Given the description of an element on the screen output the (x, y) to click on. 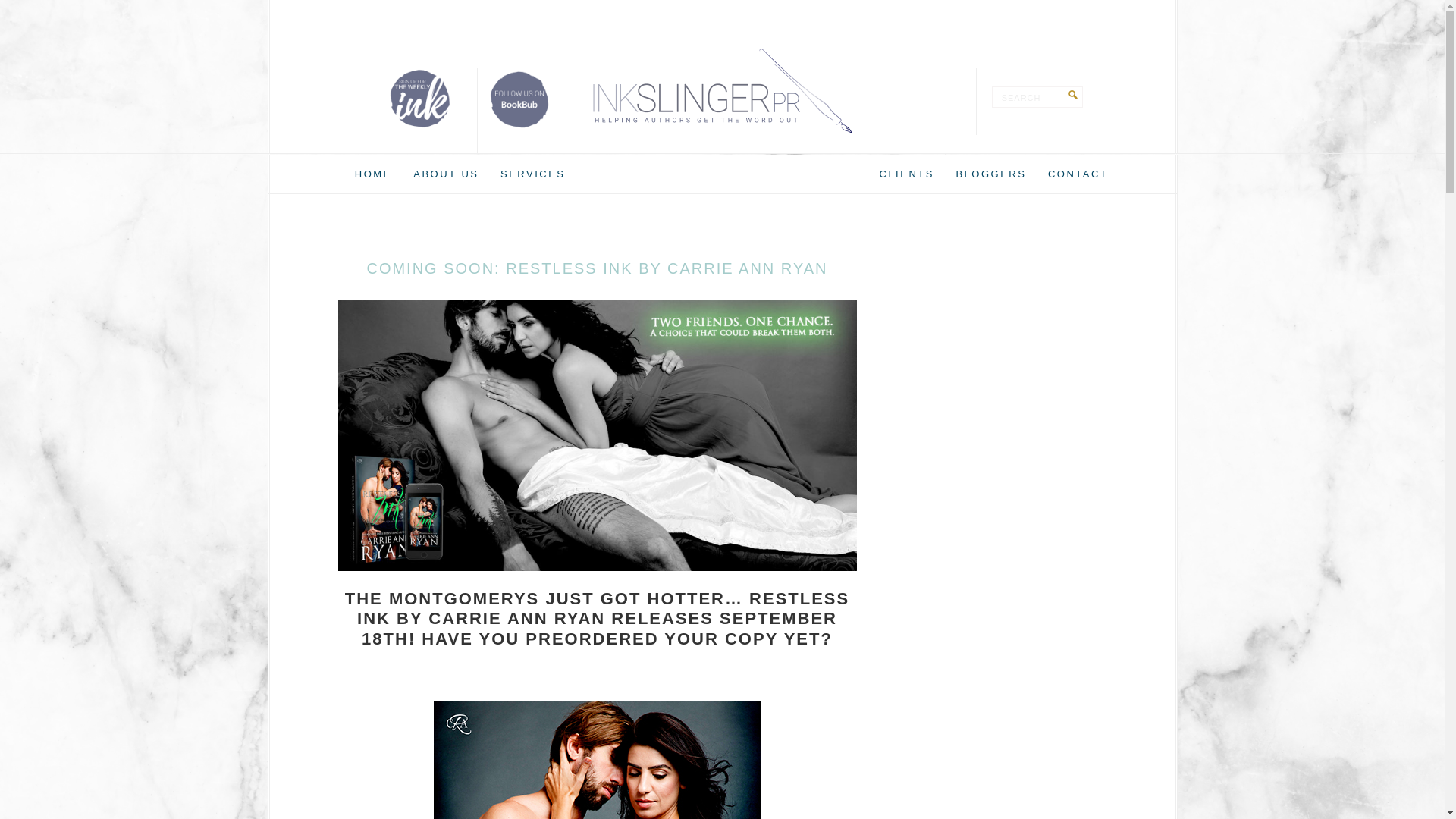
CONTACT (1077, 174)
ABOUT US (445, 174)
INKSLINGER PR (722, 91)
BLOGGERS (990, 174)
CLIENTS (906, 174)
HOME (373, 174)
SERVICES (533, 174)
